Given the description of an element on the screen output the (x, y) to click on. 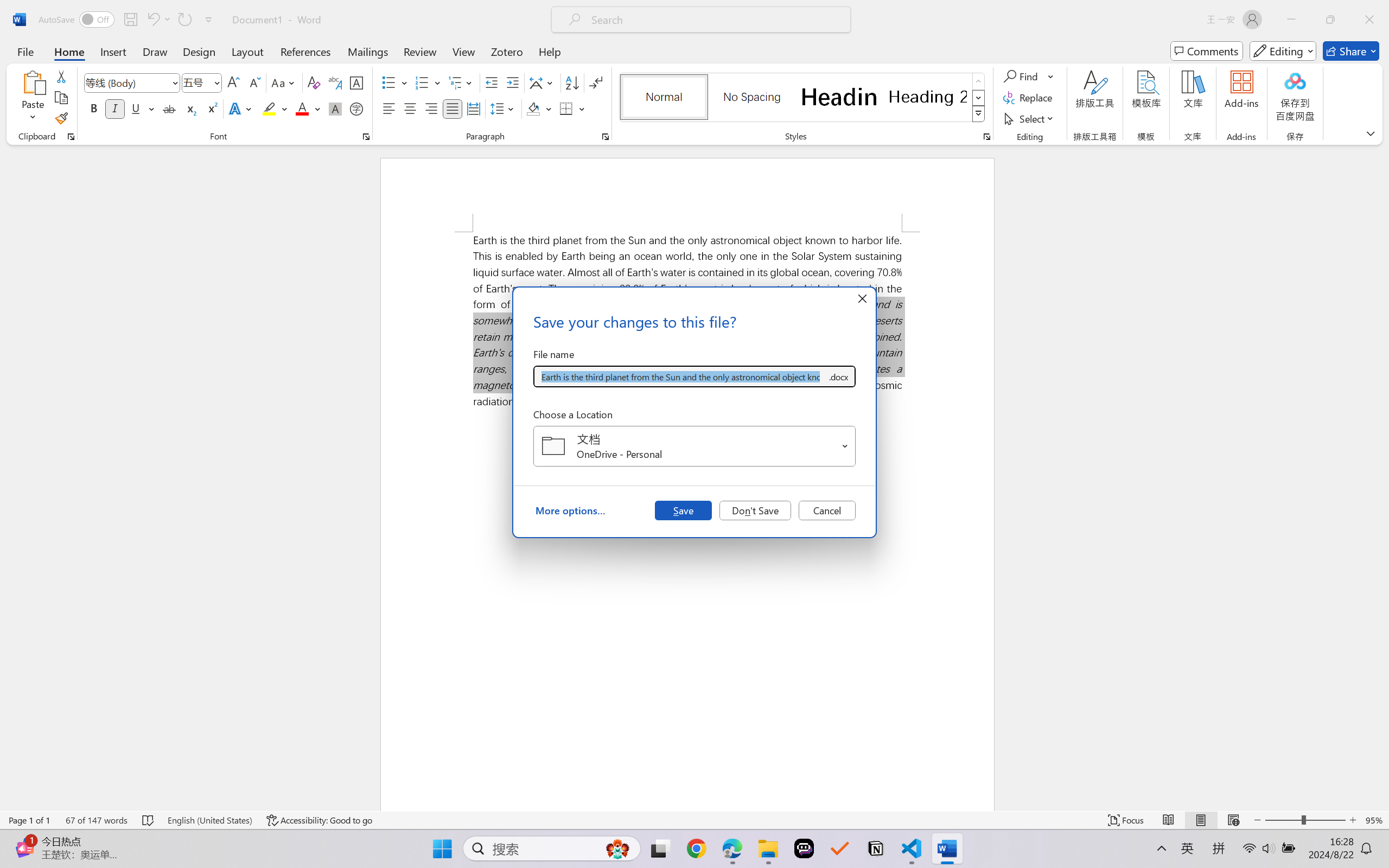
Subscript (190, 108)
Align Left (388, 108)
Notion (875, 848)
Heading 2 (927, 96)
Cut (60, 75)
Superscript (210, 108)
Grow Font (233, 82)
